Given the description of an element on the screen output the (x, y) to click on. 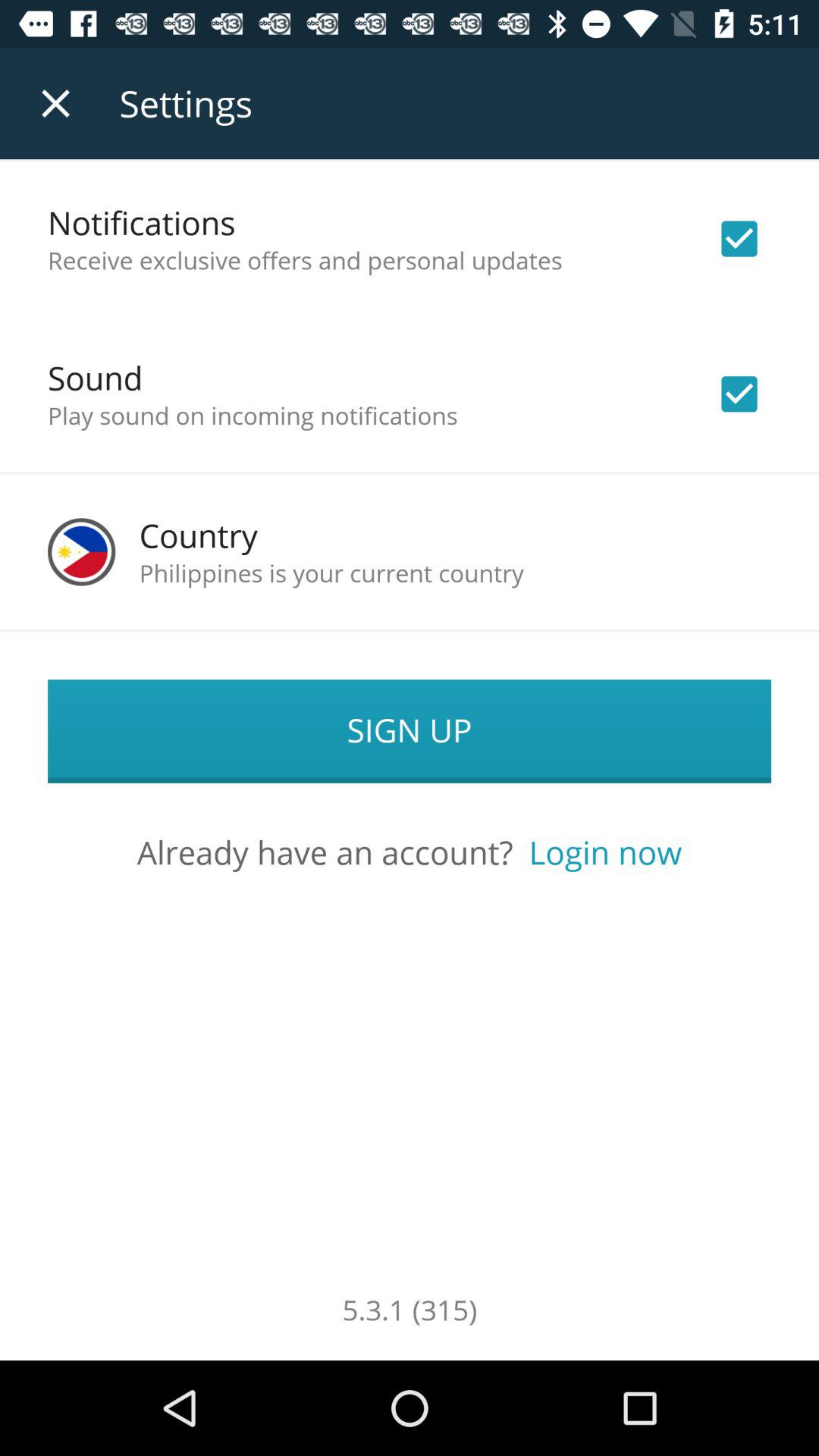
tap the app to the left of the settings item (55, 103)
